Given the description of an element on the screen output the (x, y) to click on. 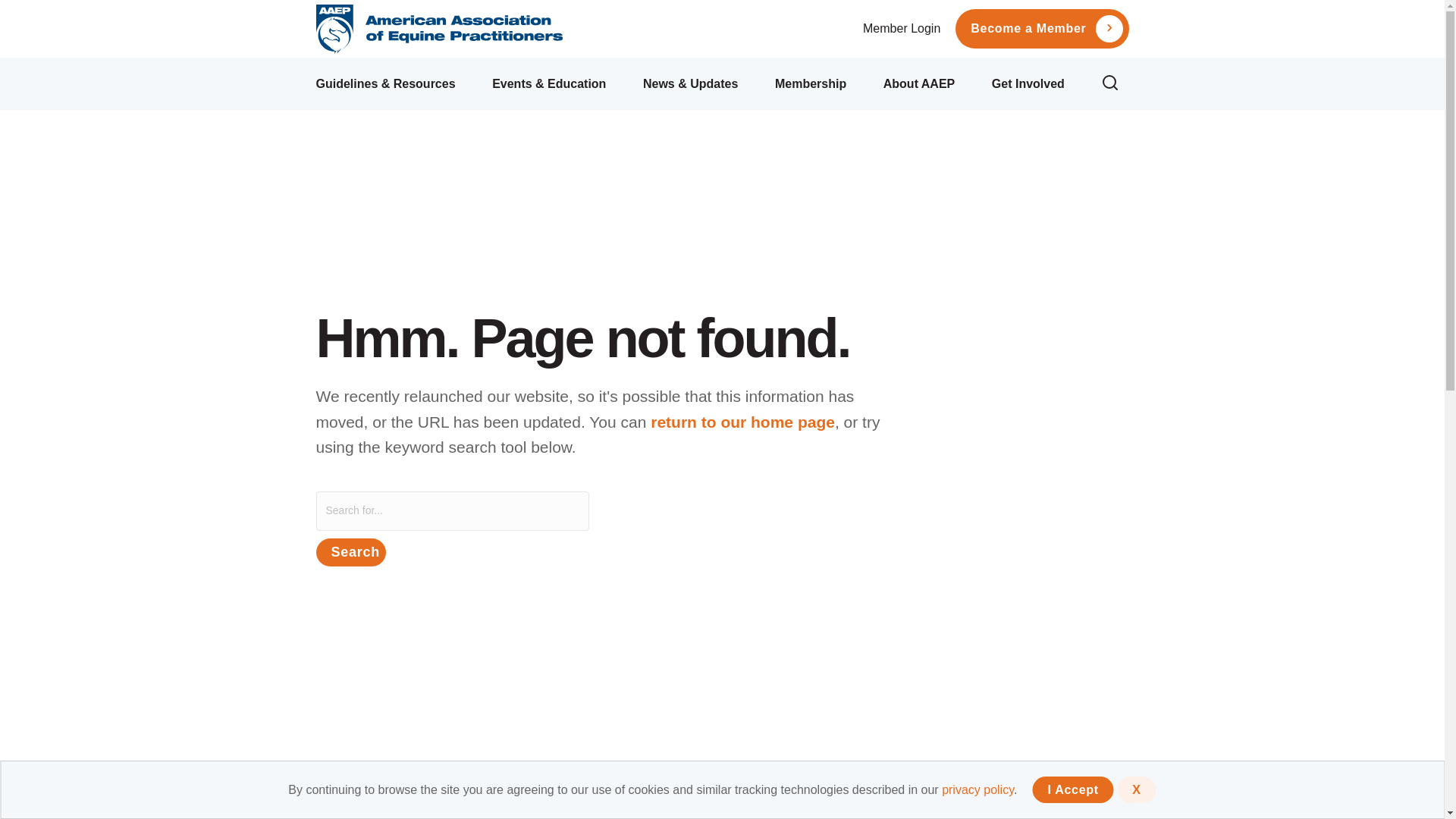
Member Login (901, 28)
I Accept (1072, 789)
Become a Member (1028, 28)
Search (350, 552)
X (1136, 789)
privacy policy (977, 789)
aaep-logo (438, 29)
